Given the description of an element on the screen output the (x, y) to click on. 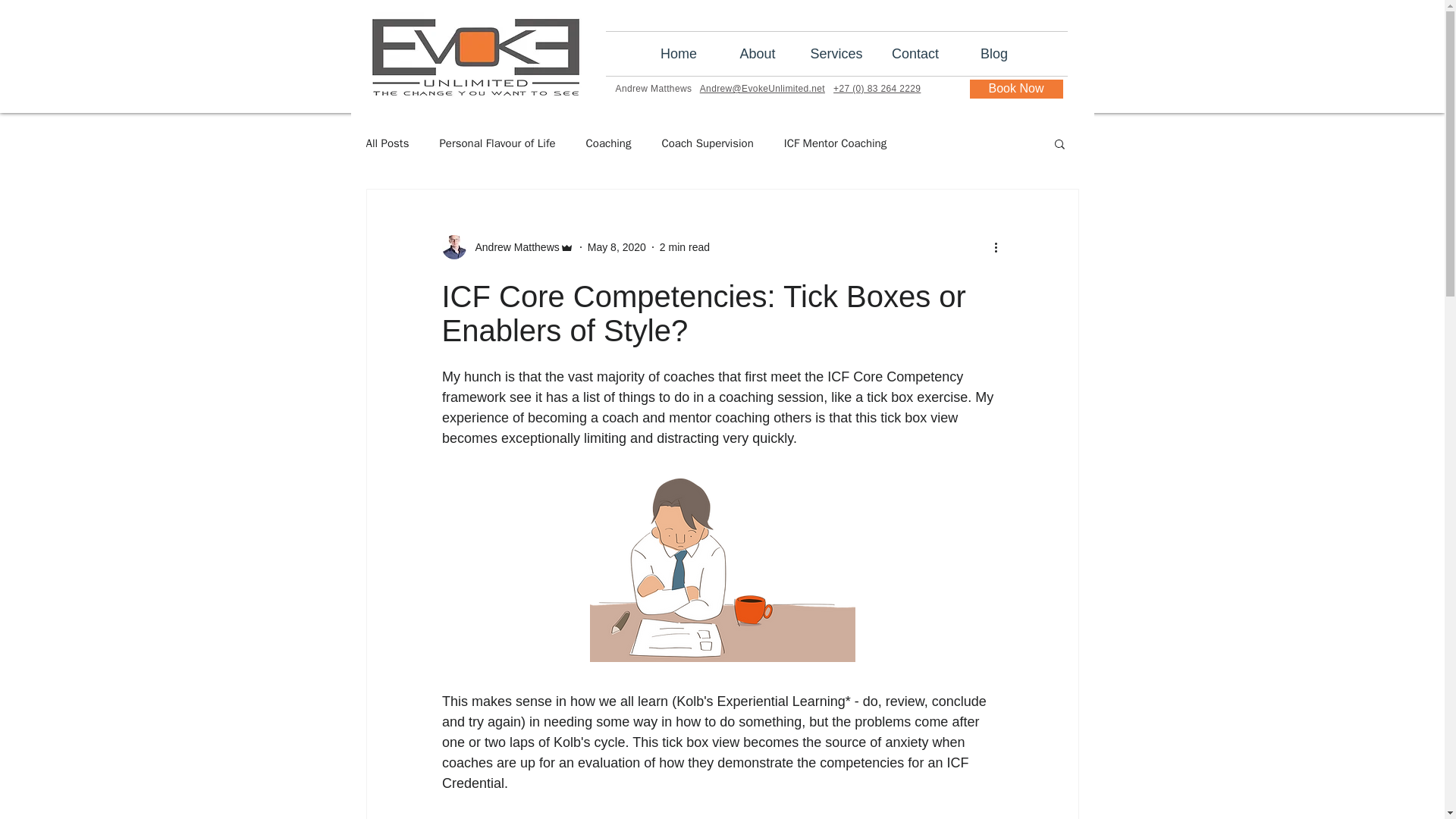
All Posts (387, 143)
2 min read (684, 246)
Andrew Matthews (512, 247)
ICF Mentor Coaching (835, 143)
Book Now (1015, 88)
Contact (915, 53)
Personal Flavour of Life (496, 143)
Coach Supervision (706, 143)
Blog (994, 53)
May 8, 2020 (617, 246)
